Given the description of an element on the screen output the (x, y) to click on. 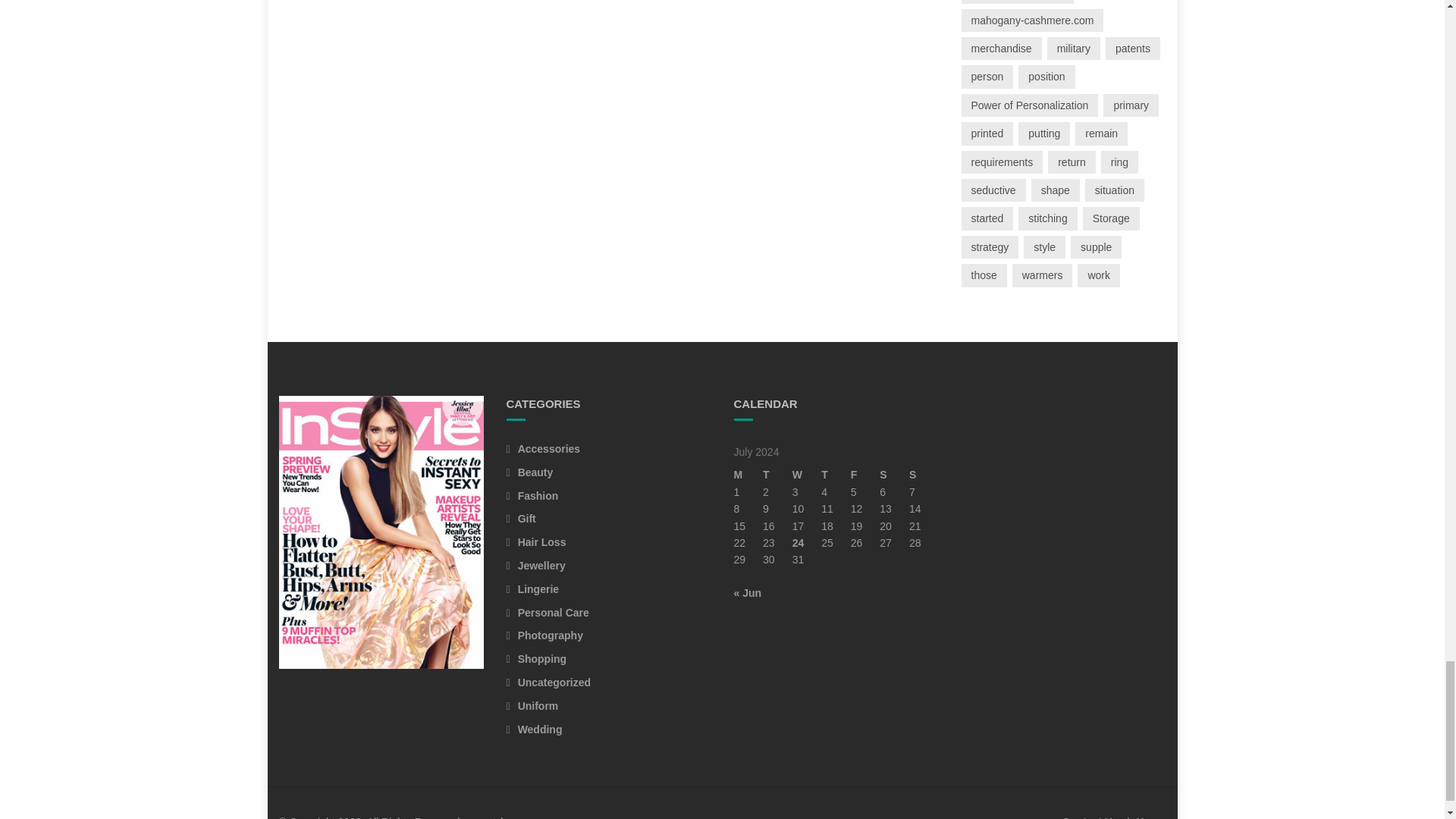
Monday (747, 474)
Wednesday (807, 474)
Thursday (835, 474)
Tuesday (777, 474)
Friday (865, 474)
Sunday (923, 474)
Saturday (893, 474)
